Given the description of an element on the screen output the (x, y) to click on. 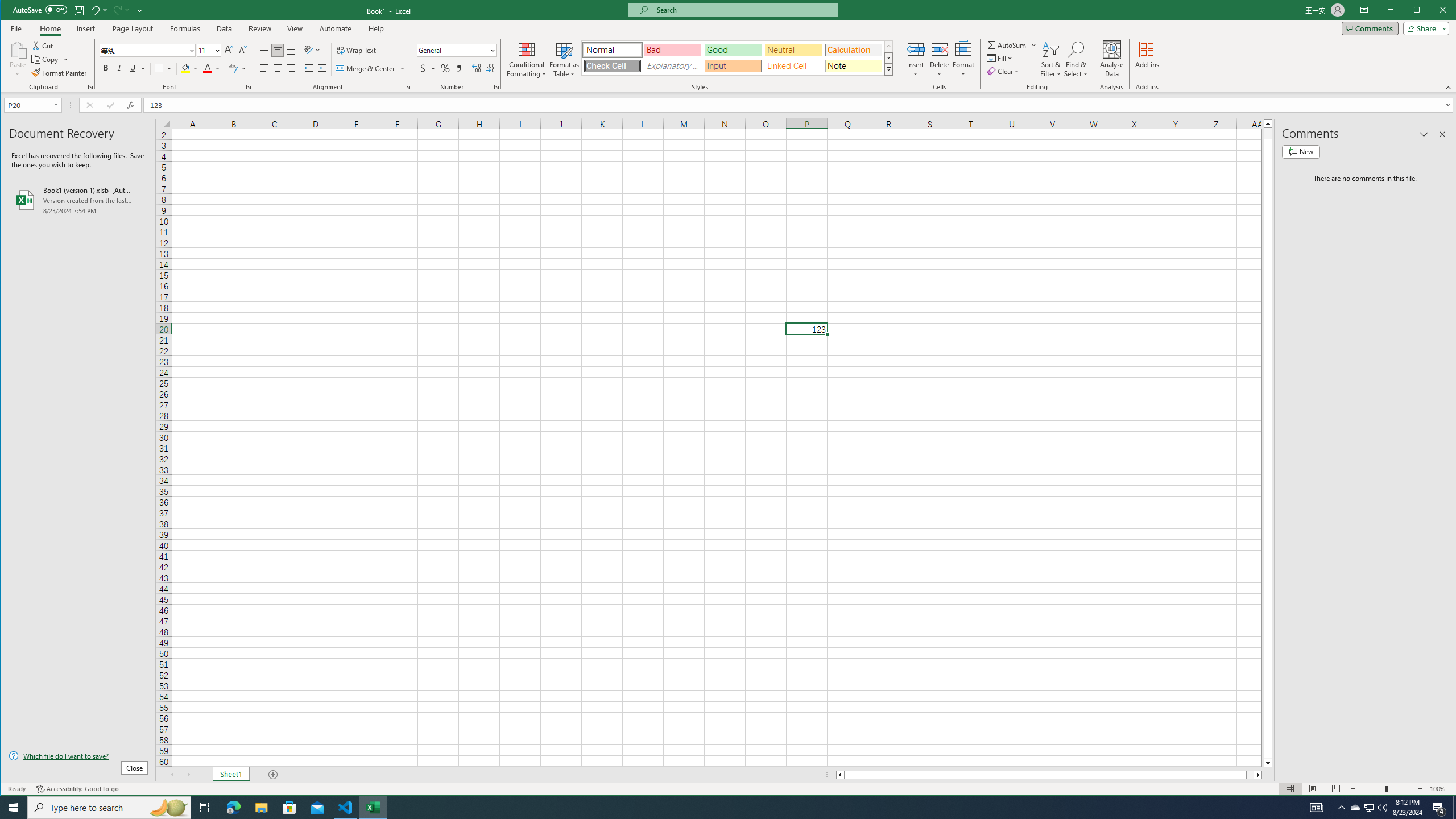
Accounting Number Format (427, 68)
Decrease Font Size (241, 49)
AutomationID: 4105 (1316, 807)
Merge & Center (370, 68)
Maximize (1432, 11)
Check Cell (612, 65)
Format Cell Font (248, 86)
Show desktop (1454, 807)
